Given the description of an element on the screen output the (x, y) to click on. 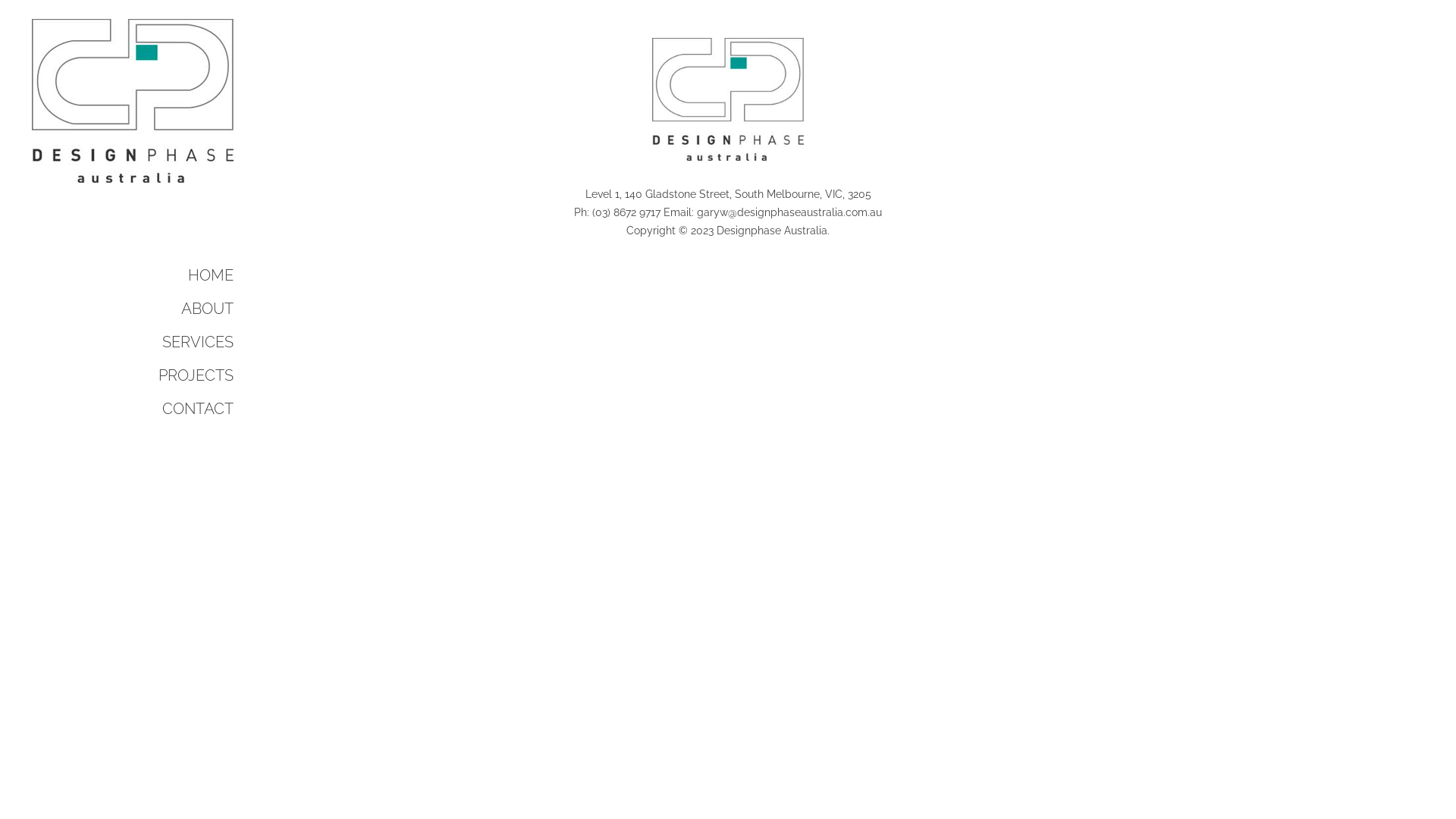
SERVICES Element type: text (144, 341)
HOME Element type: text (144, 274)
PROJECTS Element type: text (144, 375)
ABOUT Element type: text (144, 308)
CONTACT Element type: text (144, 408)
